Given the description of an element on the screen output the (x, y) to click on. 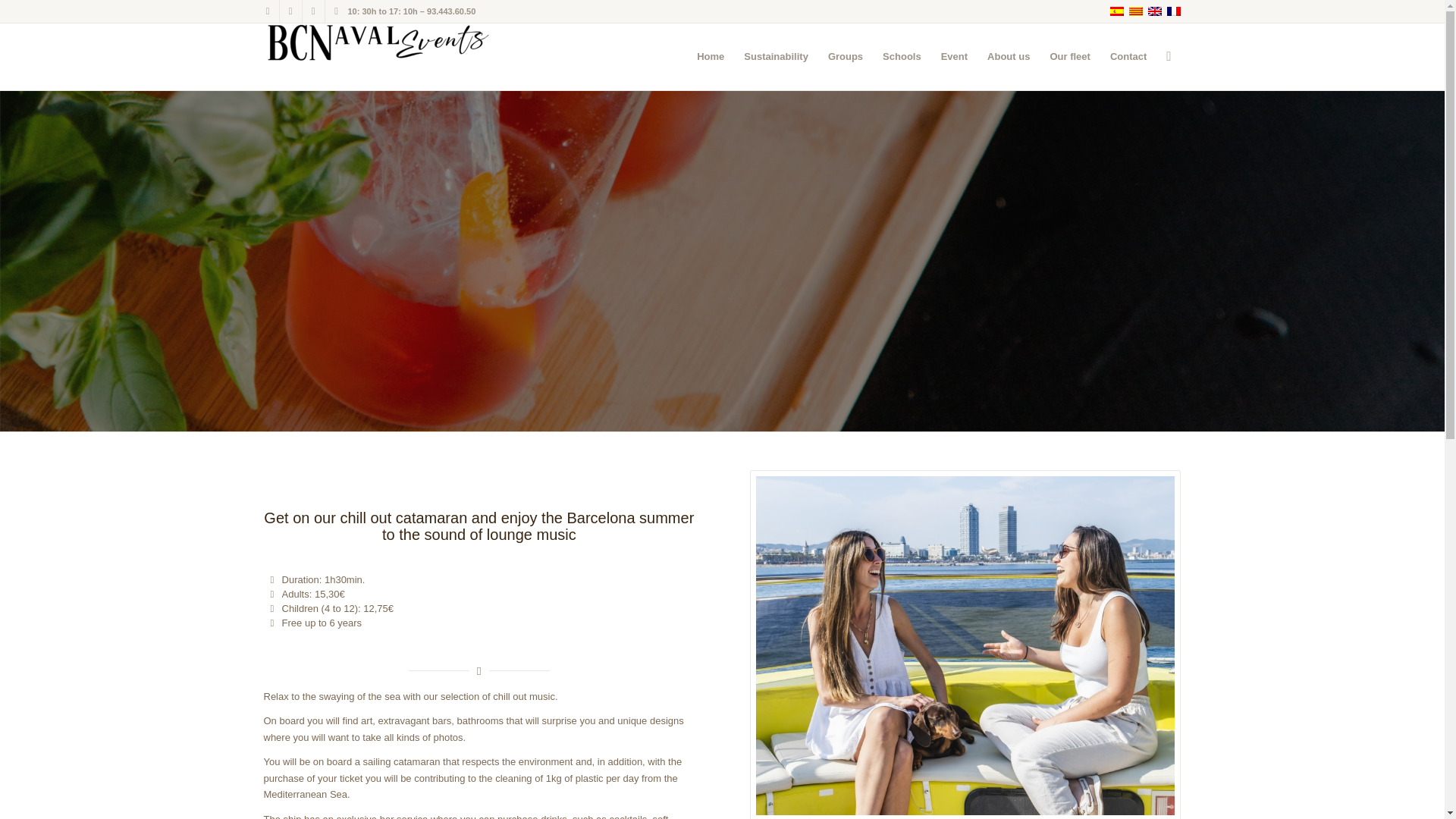
Our fleet (1069, 56)
English (1154, 10)
About us (1007, 56)
Sustainability (775, 56)
Instagram (312, 11)
Facebook (267, 11)
Youtube (335, 11)
Twitter (290, 11)
